Given the description of an element on the screen output the (x, y) to click on. 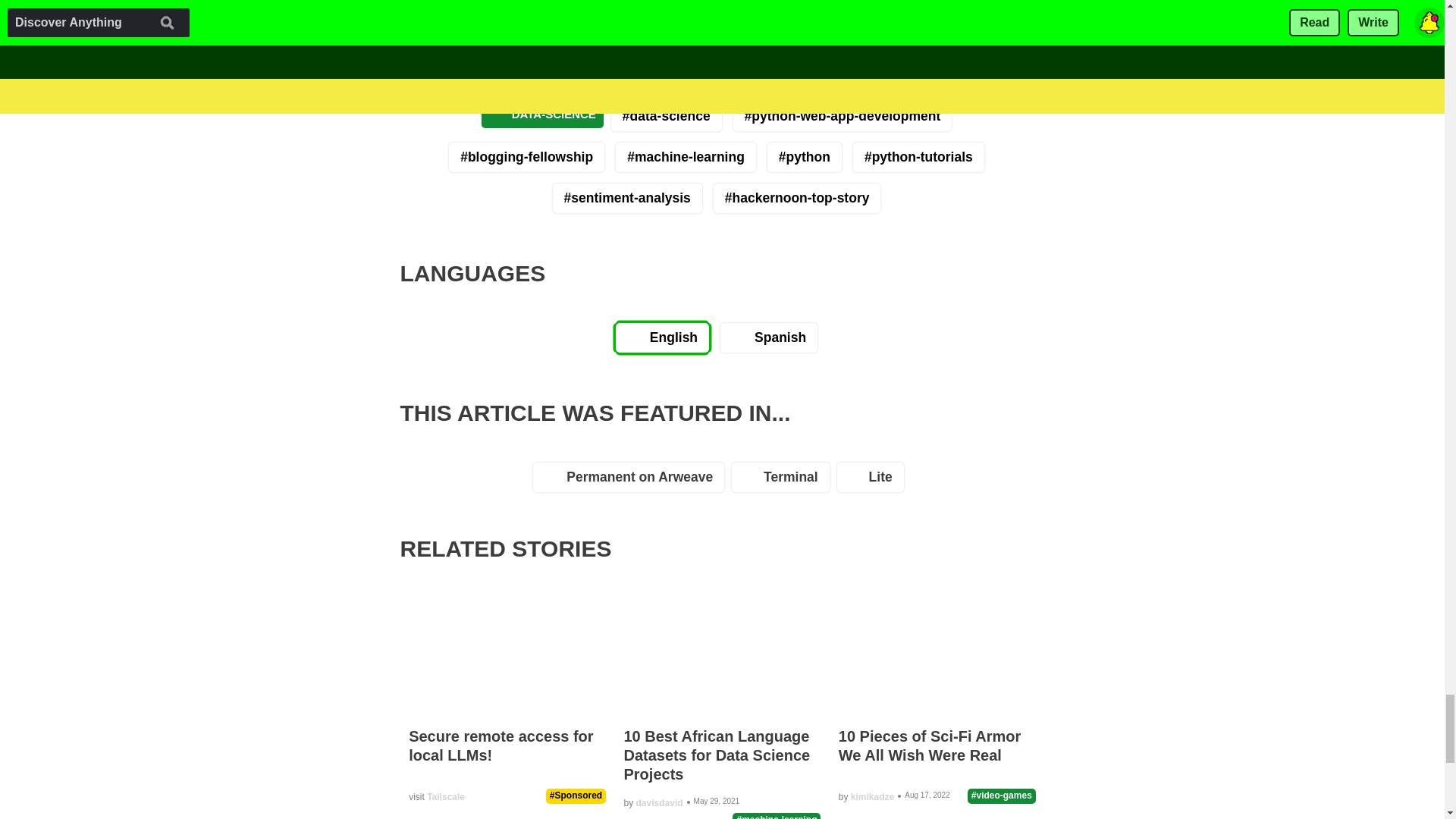
English (662, 337)
DATA-SCIENCE (542, 114)
Spanish (768, 337)
